Given the description of an element on the screen output the (x, y) to click on. 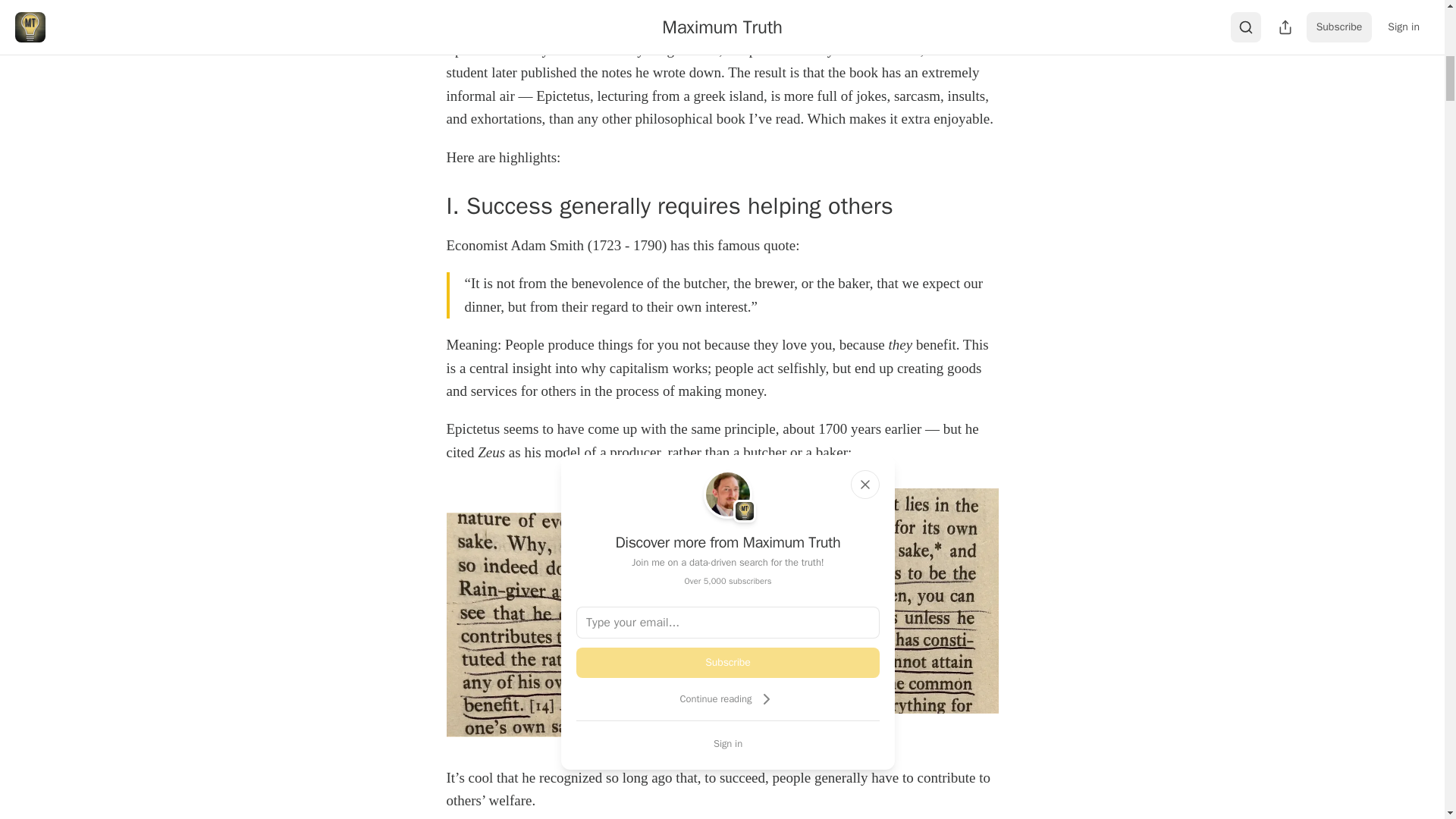
Sign in (727, 743)
Subscribe (727, 662)
